Given the description of an element on the screen output the (x, y) to click on. 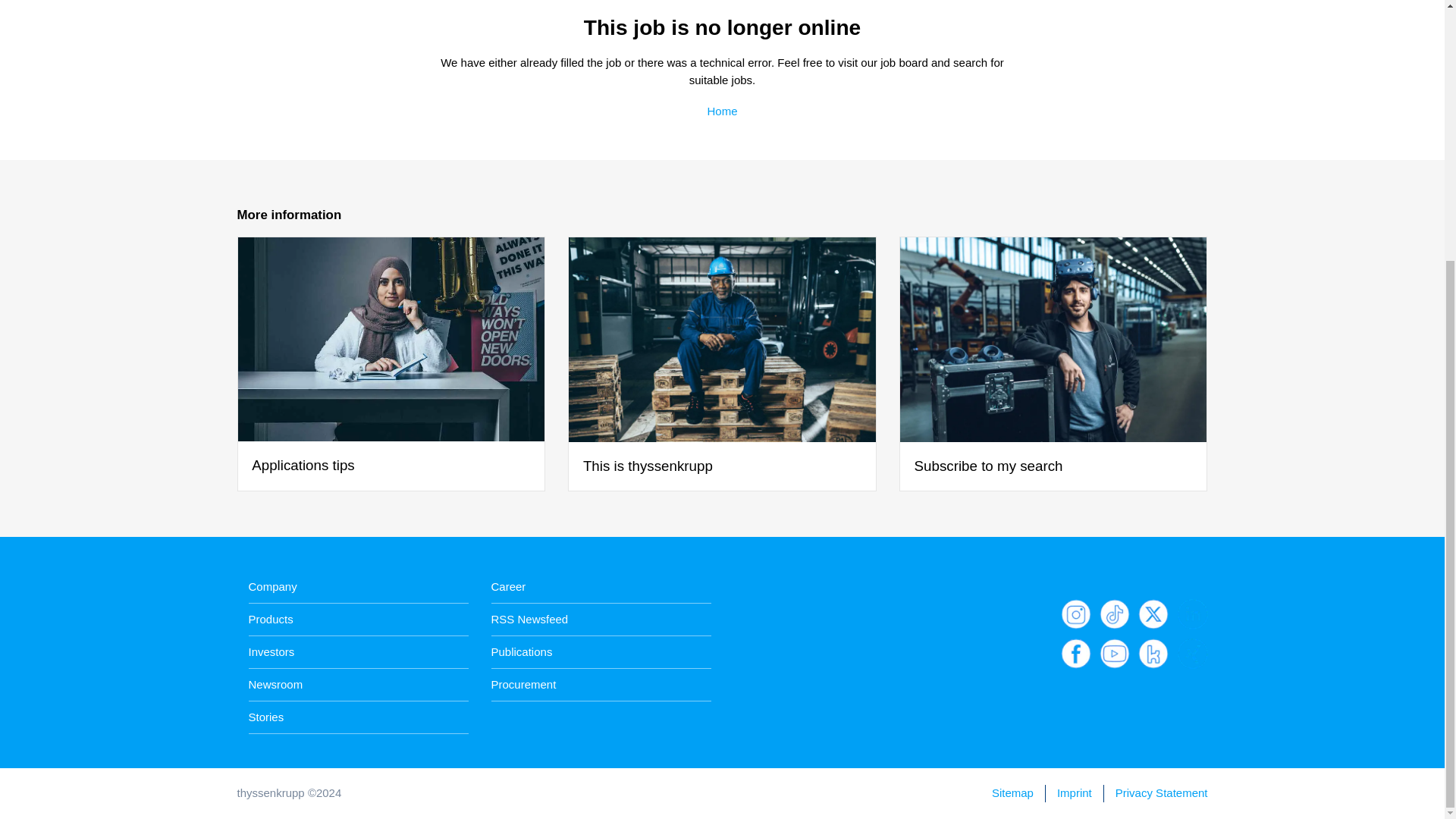
Investors (271, 651)
TKAG on Instagram (1075, 613)
Newsroom (275, 684)
Career (508, 586)
Imprint (1074, 793)
Company (272, 586)
Procurement (524, 684)
TKAG on LinkedIn (1191, 613)
TKAG on Twitter (1153, 613)
Subscribe to my search (1053, 363)
